Given the description of an element on the screen output the (x, y) to click on. 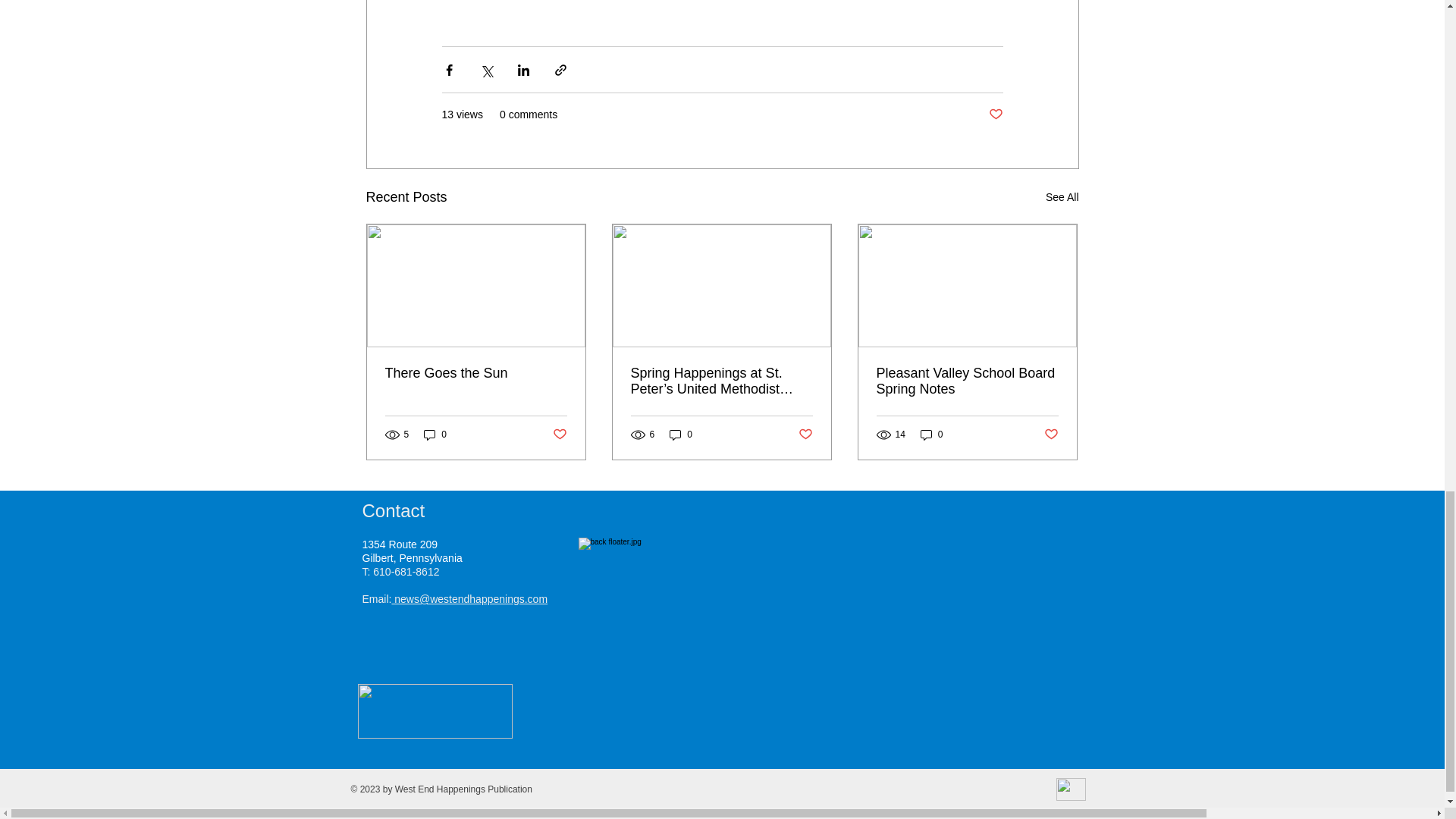
Post not marked as liked (1050, 433)
Post not marked as liked (995, 114)
There Goes the Sun (476, 373)
0 (435, 434)
Pleasant Valley School Board Spring Notes (967, 381)
0 (931, 434)
Post not marked as liked (804, 433)
See All (1061, 197)
0 (681, 434)
Post not marked as liked (558, 433)
